Given the description of an element on the screen output the (x, y) to click on. 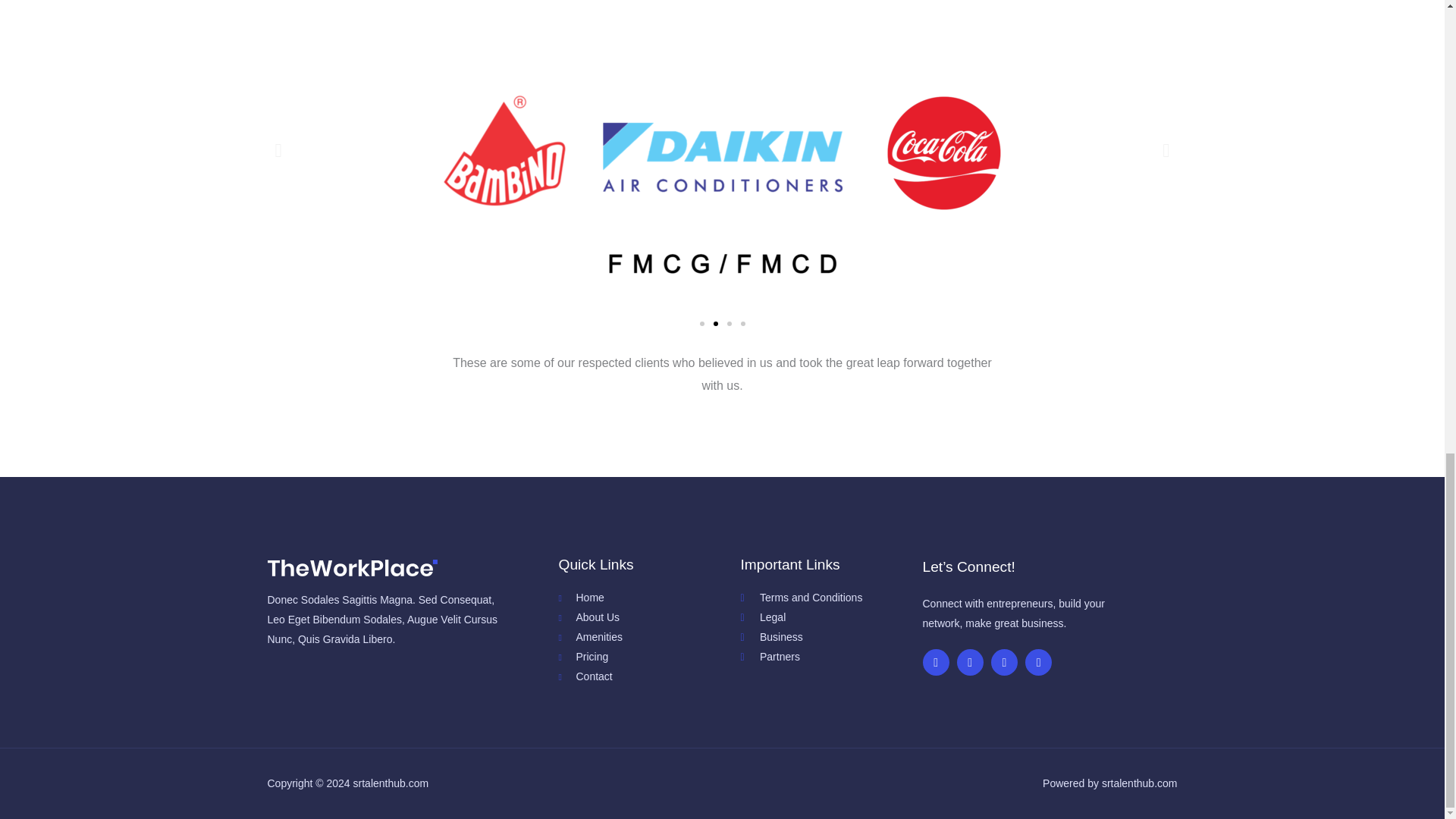
Amenities (648, 637)
Legal (830, 618)
Pricing (648, 657)
Contact (648, 677)
Home (648, 598)
Terms and Conditions (830, 598)
Business (830, 637)
About Us (648, 618)
theworkplace-logo-light (352, 568)
Partners (830, 657)
